Given the description of an element on the screen output the (x, y) to click on. 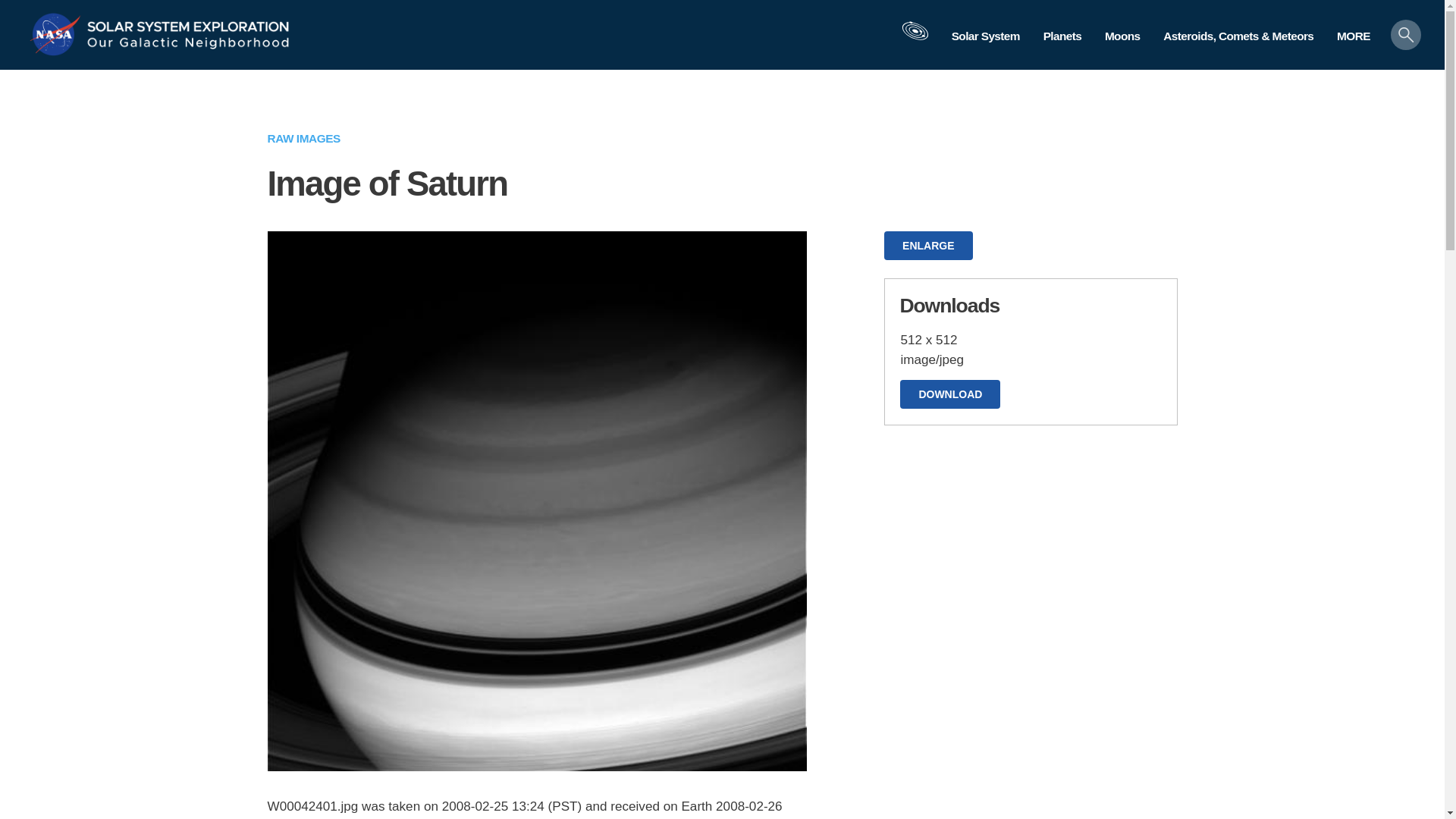
Home (57, 33)
Our Galactic Neighborhood (188, 45)
Solar System (984, 35)
Solar System Exploration (188, 22)
NASA (57, 33)
Planets (1061, 35)
Home (188, 22)
Home (188, 45)
